Given the description of an element on the screen output the (x, y) to click on. 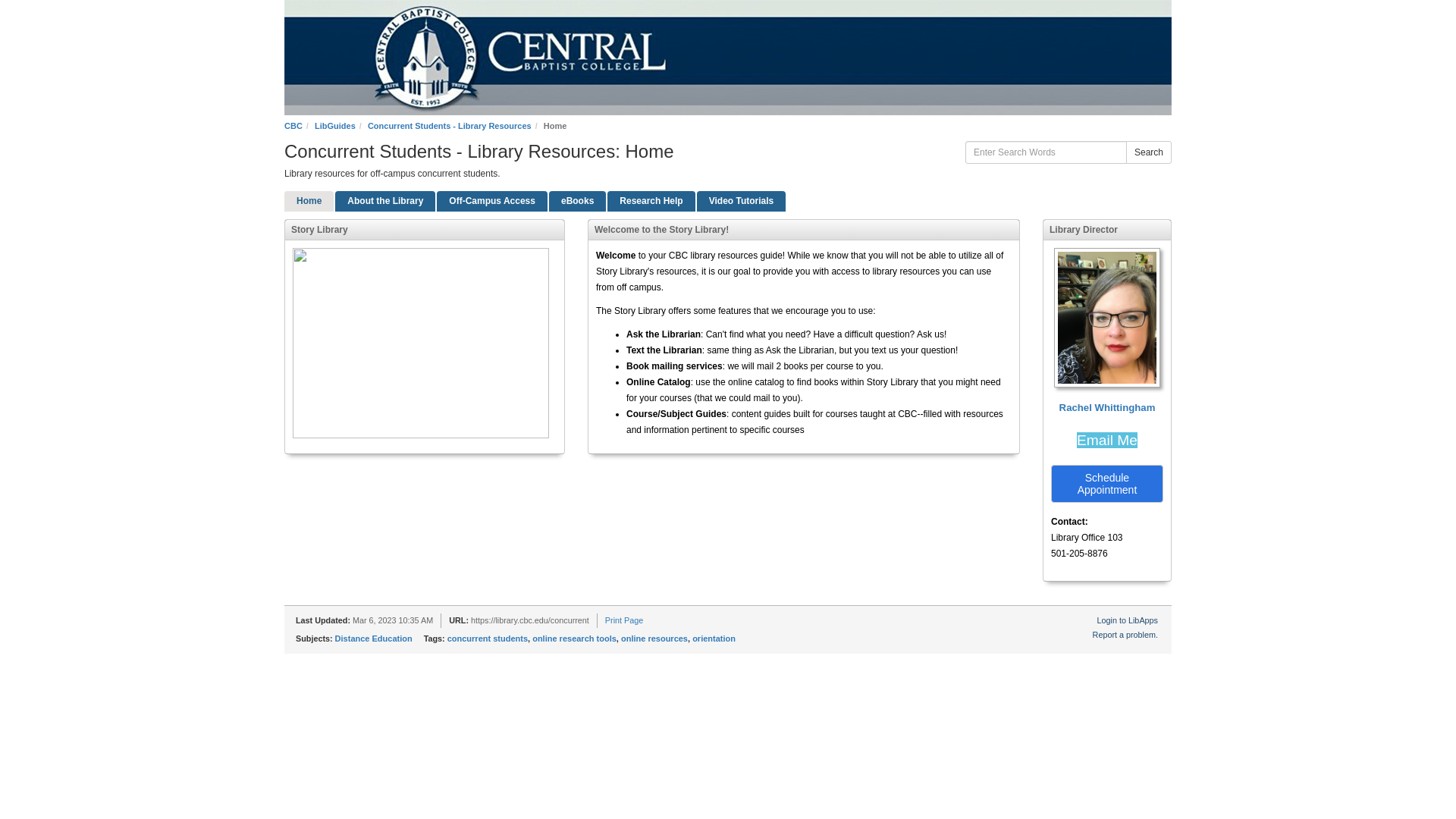
Print Page (624, 619)
Become a better researcher! (650, 200)
Search (1148, 151)
Video Tutorials (741, 200)
Off-Campus Access (491, 200)
online resources (654, 637)
Login to LibApps (1127, 619)
Schedule Appointment (1107, 483)
online research tools (573, 637)
Research Help (650, 200)
